Given the description of an element on the screen output the (x, y) to click on. 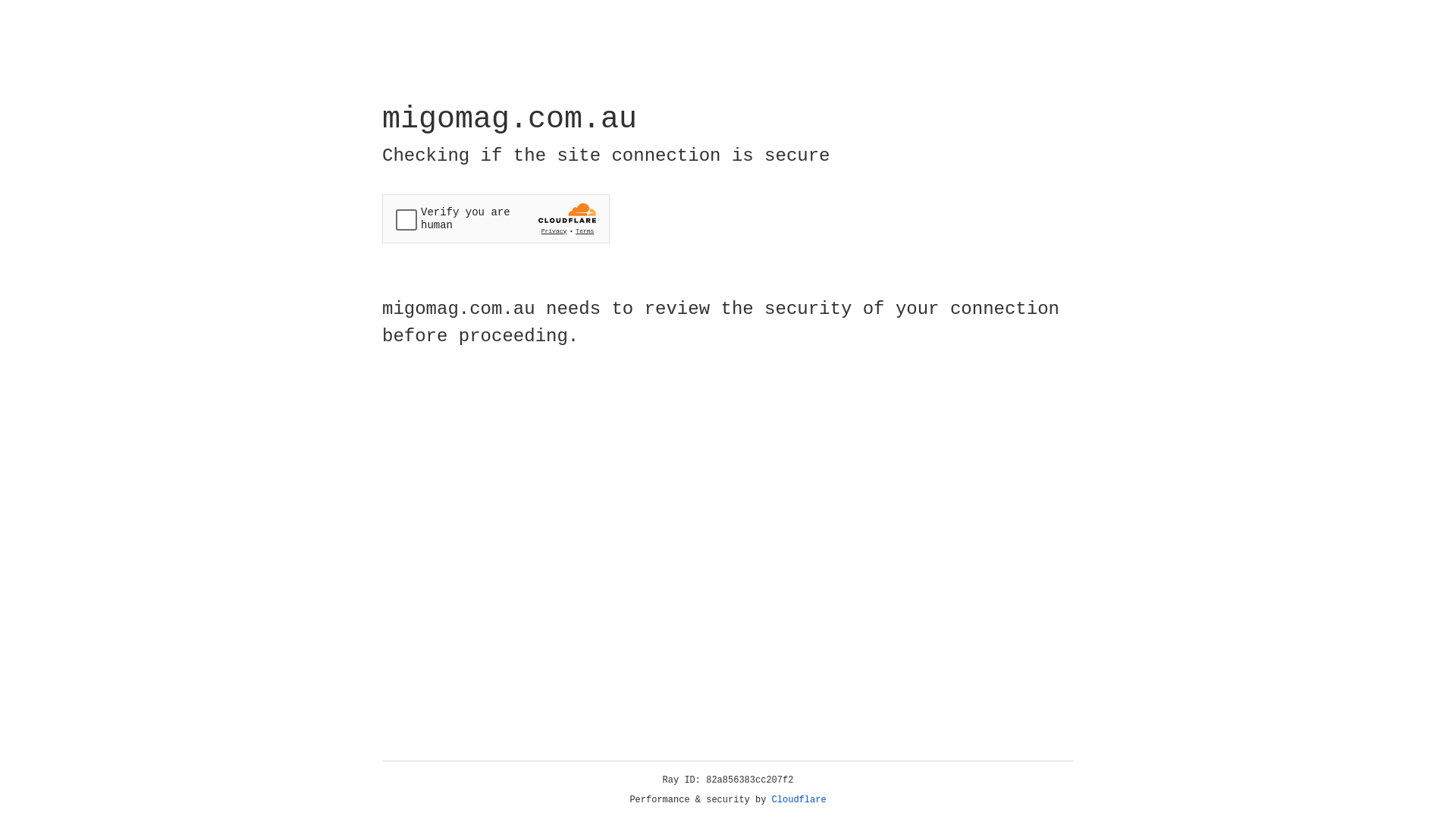
Widget containing a Cloudflare security challenge Element type: hover (495, 218)
Cloudflare Element type: text (798, 799)
